Given the description of an element on the screen output the (x, y) to click on. 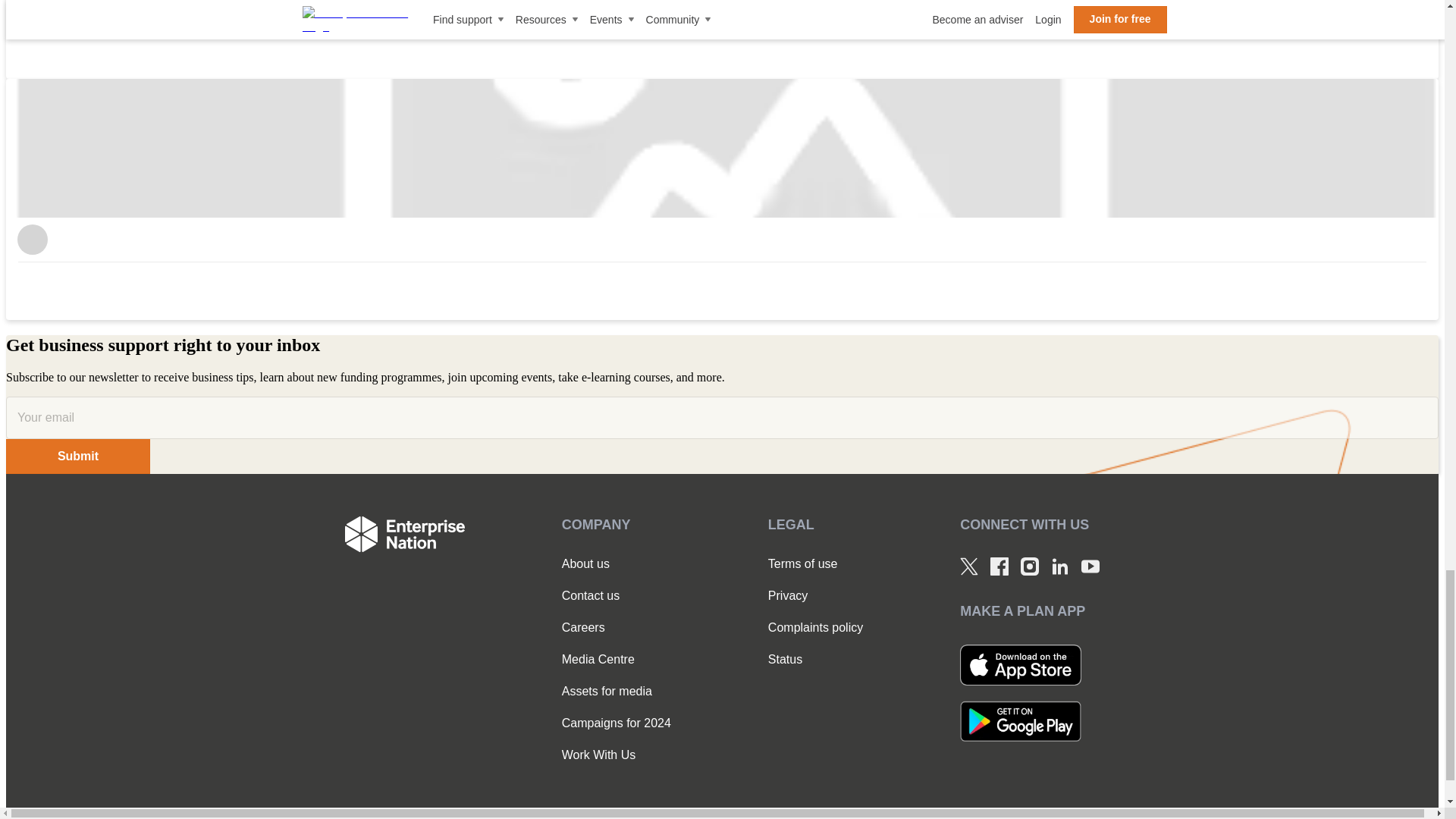
Campaigns for 2024 (616, 723)
About us (616, 563)
Assets for media (616, 691)
Terms of use (815, 563)
Careers (616, 627)
Media Centre (616, 659)
Submit (77, 456)
Contact us (616, 595)
Work With Us (616, 755)
Complaints policy (815, 627)
Status (815, 659)
Privacy (815, 595)
